Given the description of an element on the screen output the (x, y) to click on. 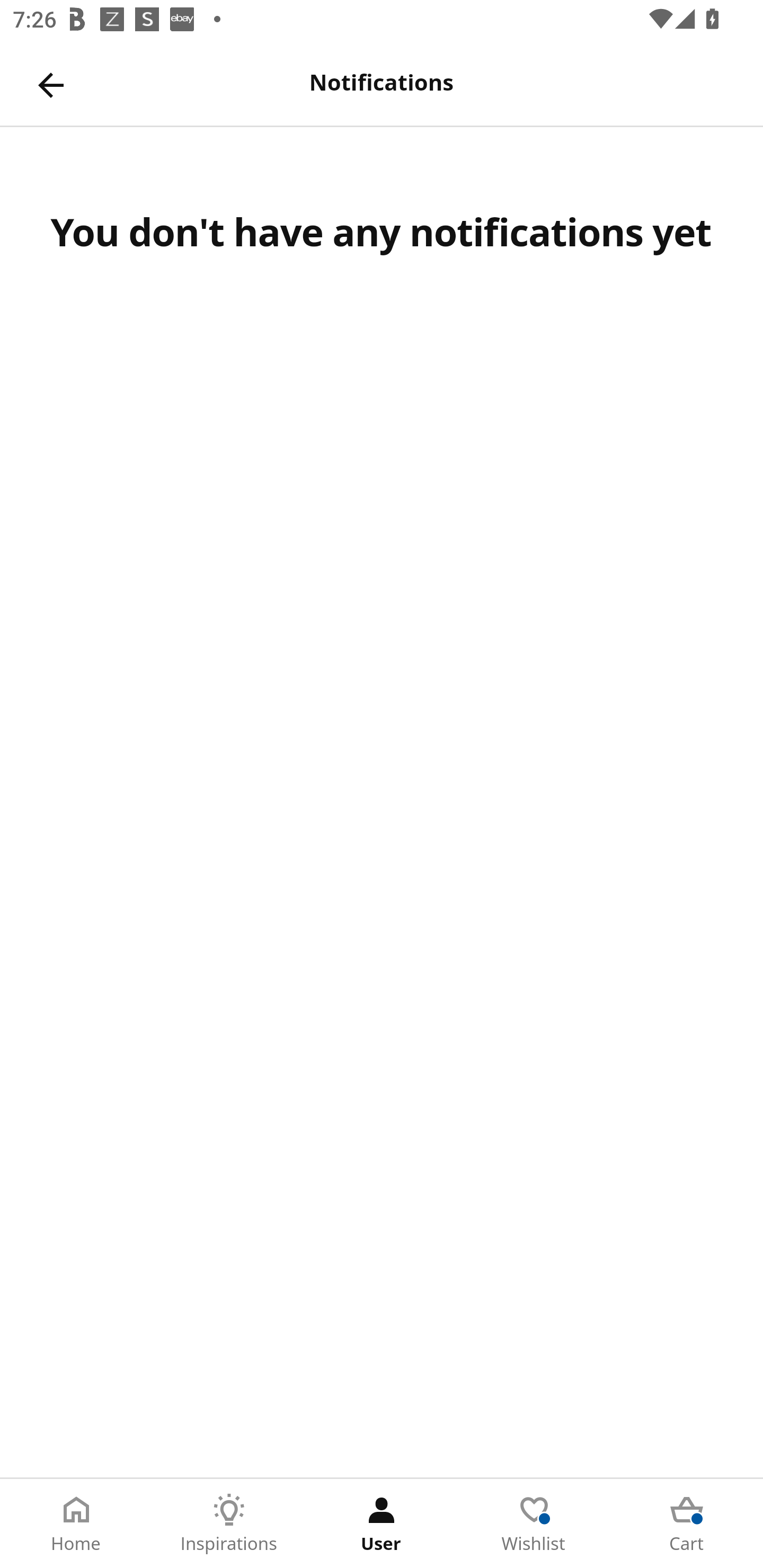
Home
Tab 1 of 5 (76, 1522)
Inspirations
Tab 2 of 5 (228, 1522)
User
Tab 3 of 5 (381, 1522)
Wishlist
Tab 4 of 5 (533, 1522)
Cart
Tab 5 of 5 (686, 1522)
